Given the description of an element on the screen output the (x, y) to click on. 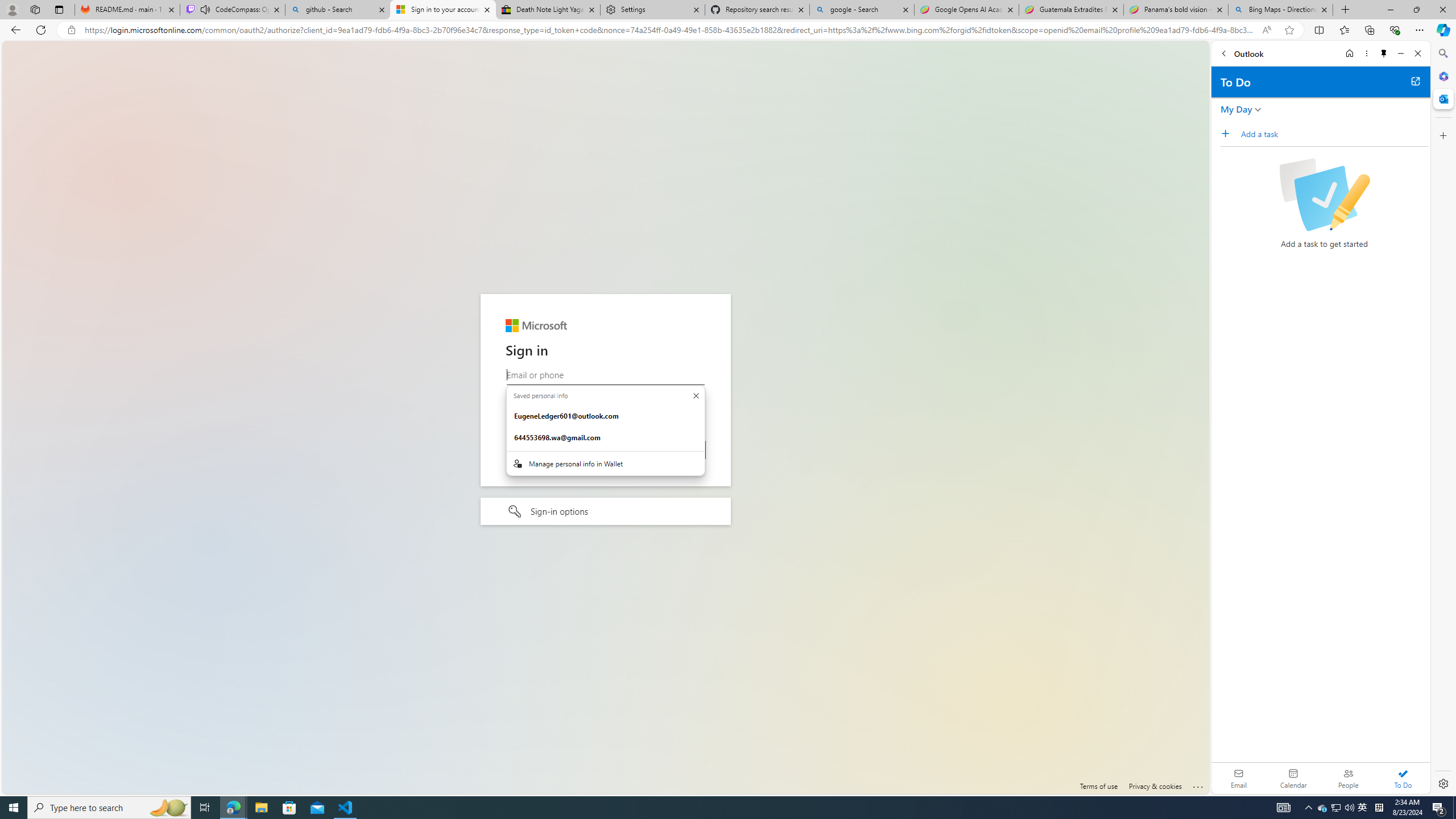
644553698.wa@gmail.com. :Basic info suggestion. (605, 437)
Email (1238, 777)
Click here for troubleshooting information (1198, 784)
